Given the description of an element on the screen output the (x, y) to click on. 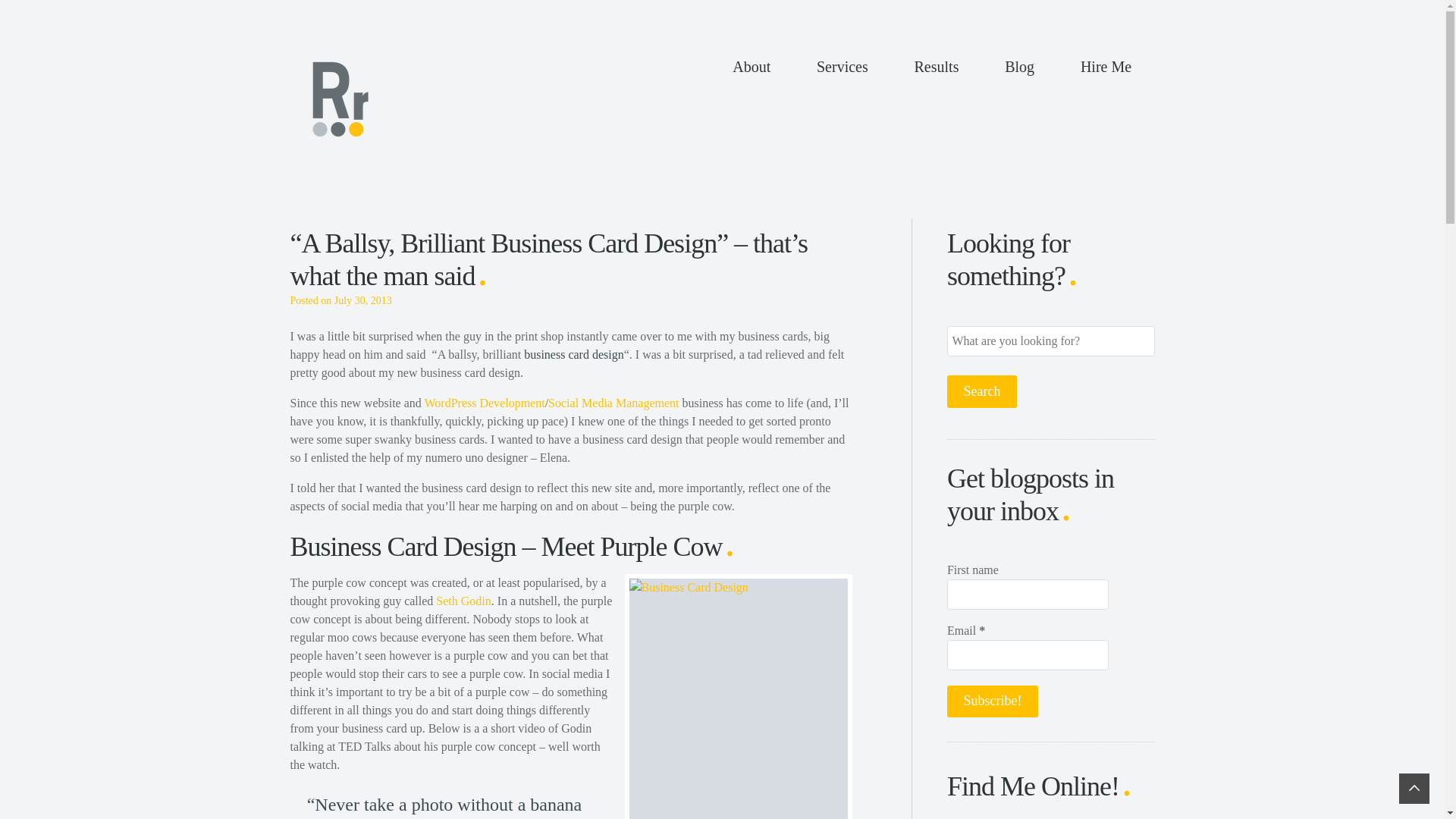
Results (936, 66)
Seth Godin (462, 600)
Hire Me (1106, 66)
Search (981, 391)
Subscribe! (992, 701)
Subscribe! (992, 701)
WordPress Developer (484, 402)
Services (841, 66)
Seth Godin (462, 600)
First name (1027, 594)
